Given the description of an element on the screen output the (x, y) to click on. 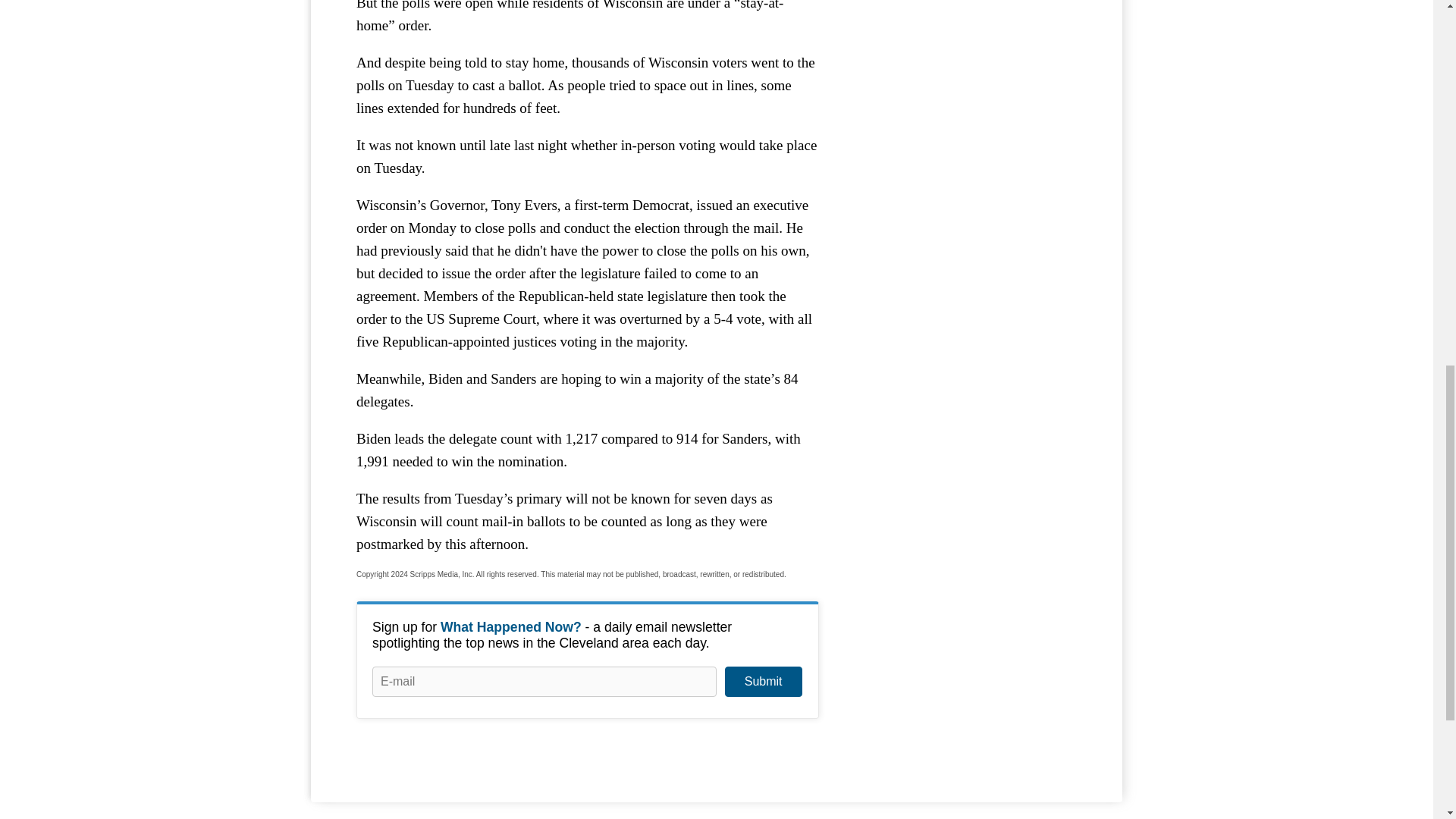
Submit (763, 681)
